Given the description of an element on the screen output the (x, y) to click on. 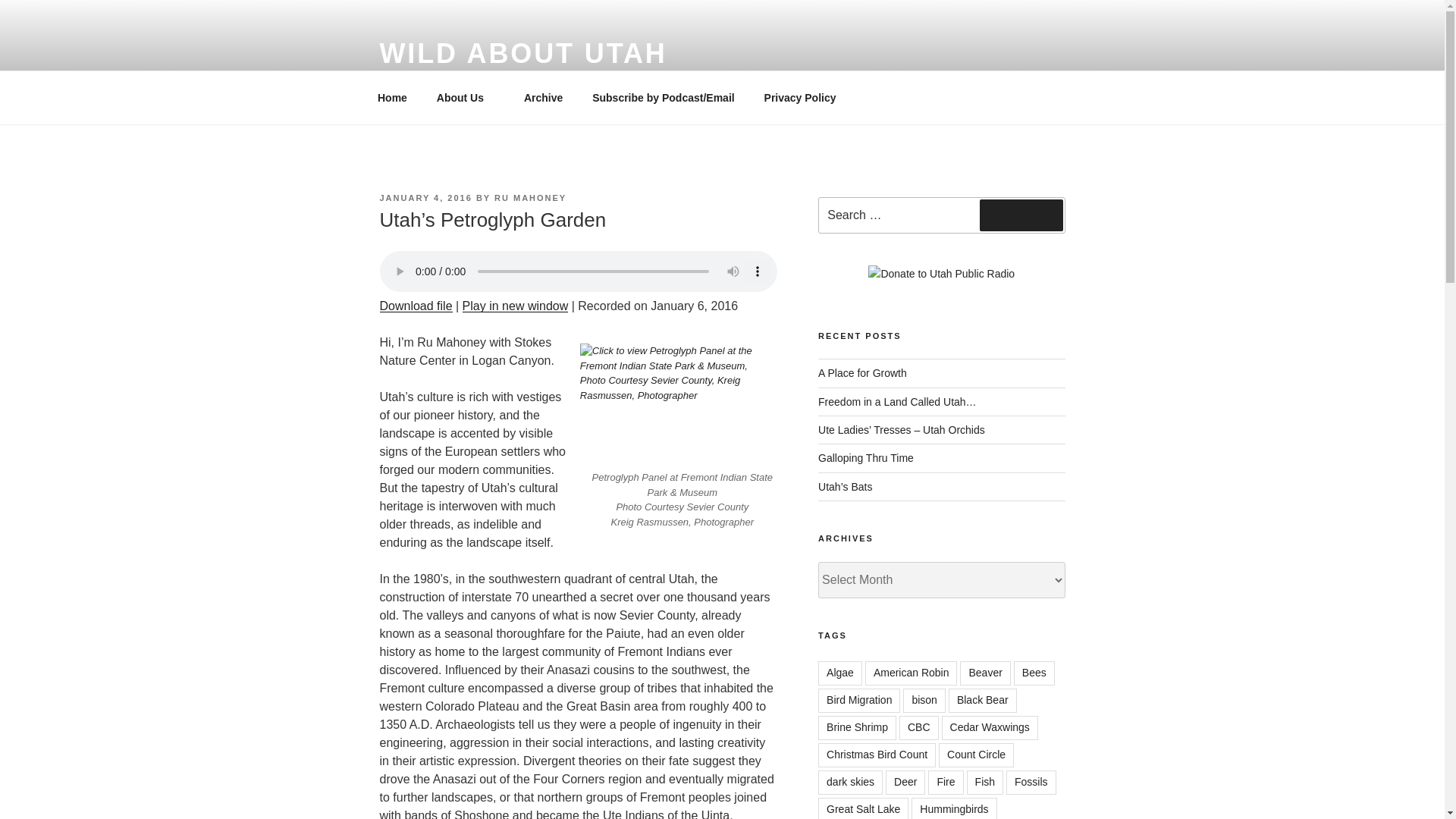
Visit Donate to Utah Public Radio Page (940, 273)
Privacy Policy (799, 97)
Search (1020, 214)
Play in new window (516, 305)
RU MAHONEY (530, 197)
WILD ABOUT UTAH (522, 52)
JANUARY 4, 2016 (424, 197)
Home (392, 97)
Download file (414, 305)
About Us (464, 97)
